Given the description of an element on the screen output the (x, y) to click on. 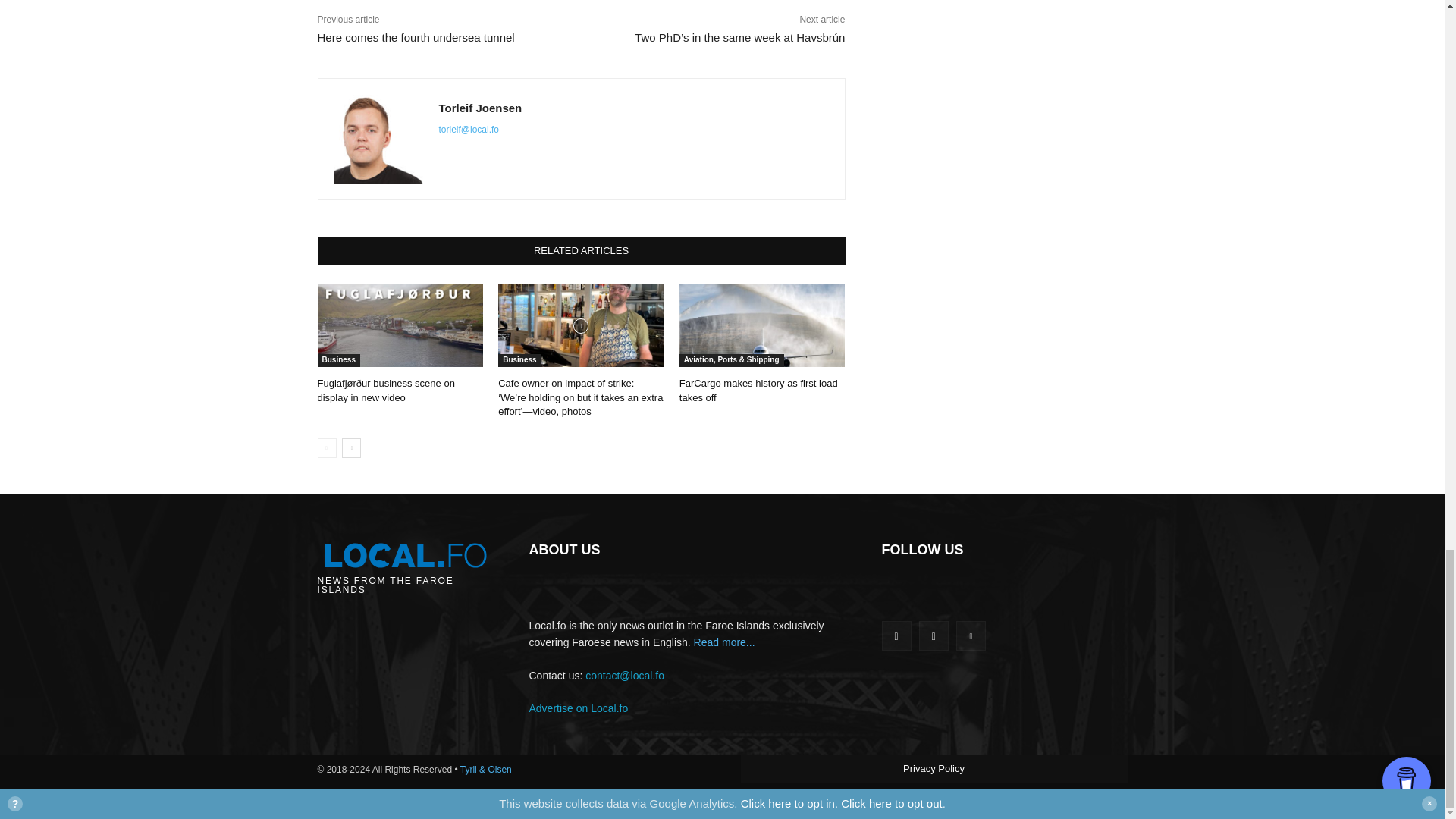
FarCargo makes history as first load takes off (762, 325)
FarCargo makes history as first load takes off (758, 389)
FarCargo makes history as first load takes off (758, 389)
Facebook (895, 635)
Here comes the fourth undersea tunnel (415, 37)
NEWS FROM THE FAROE ISLANDS (404, 564)
Business (338, 359)
Read more... (724, 642)
Twitter (933, 635)
LOCAL.FO (404, 564)
Advertise on Local.fo (578, 707)
Business (518, 359)
Torleif Joensen (479, 107)
Vimeo (970, 635)
Torleif Joensen (377, 139)
